Given the description of an element on the screen output the (x, y) to click on. 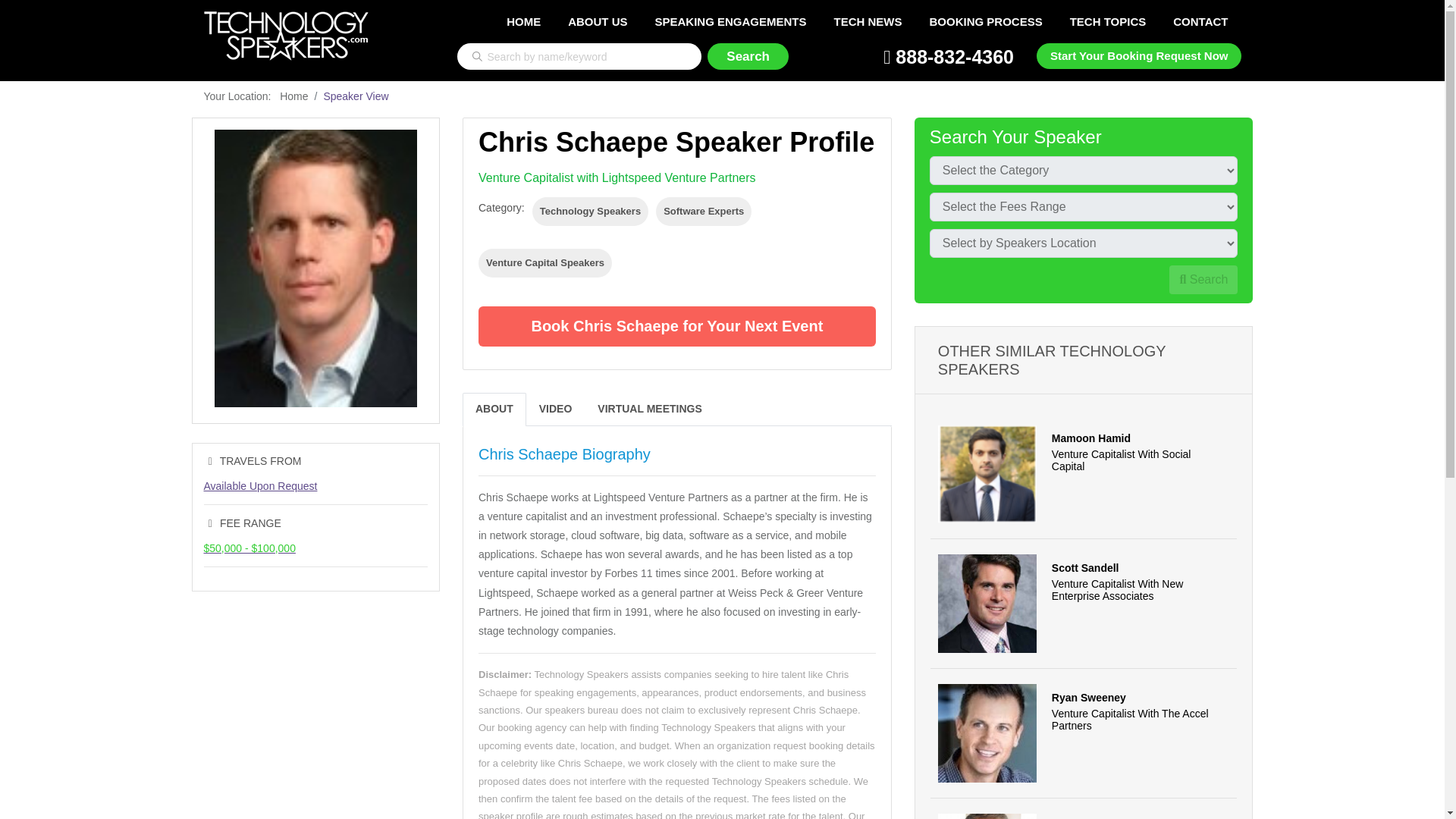
BOOKING PROCESS (986, 21)
ABOUT US (597, 21)
VIDEO (555, 409)
TECH TOPICS (1108, 21)
Technology Speakers (589, 211)
Start Your Booking Request Now (1138, 55)
Venture Capital Speakers (545, 262)
Mamoon Hamid Venture Capitalist With Social Capital (1083, 473)
SPEAKING ENGAGEMENTS (729, 21)
Software Experts (703, 211)
CONTACT (1199, 21)
888-832-4360 (948, 56)
VIRTUAL MEETINGS (649, 409)
Ryan Sweeney Venture Capitalist With The Accel Partners (1083, 733)
